Given the description of an element on the screen output the (x, y) to click on. 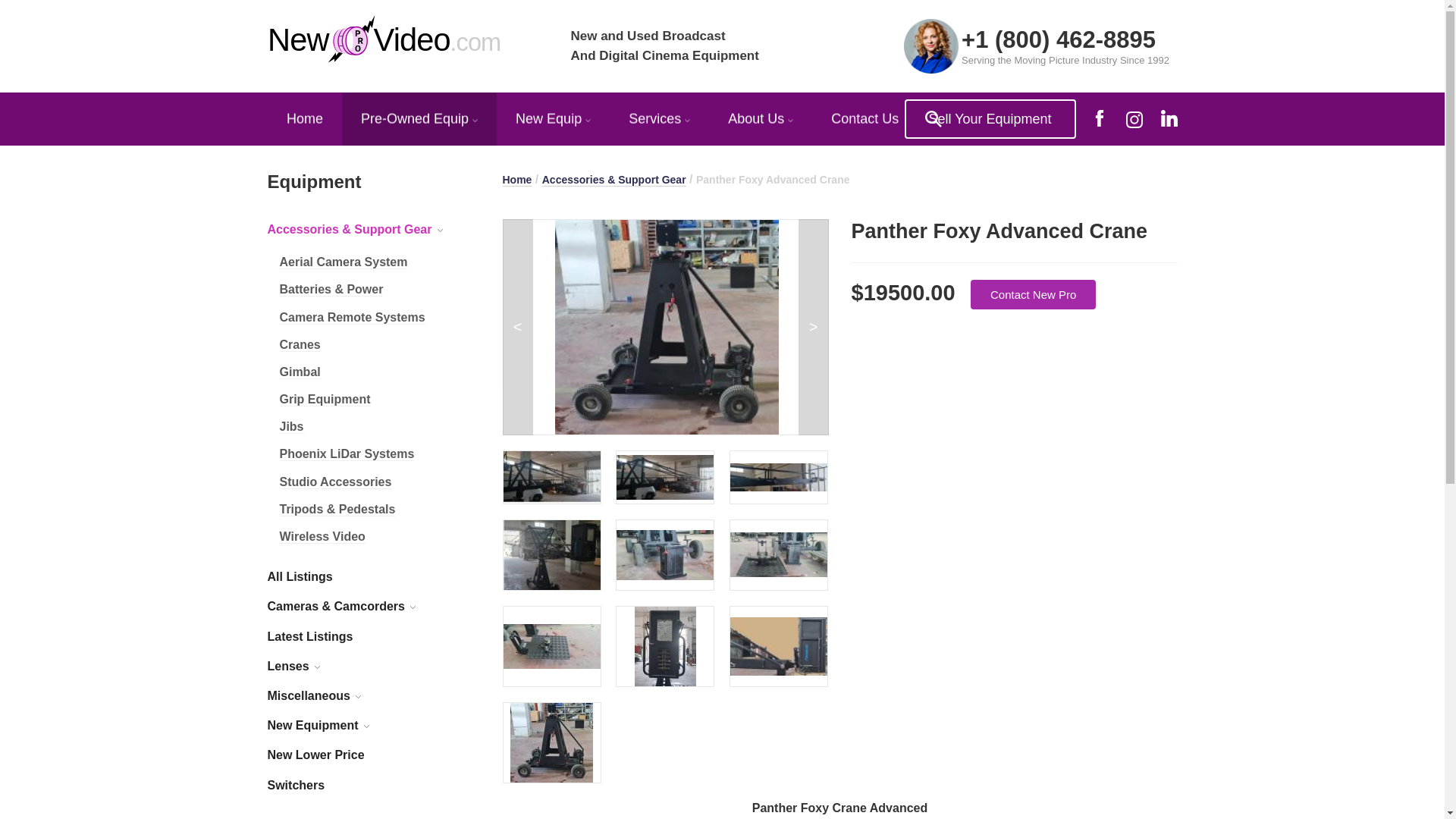
Home (516, 179)
Our Facebook (1098, 117)
Panther Foxy Advanced Crane  (666, 327)
Panther Foxy Advanced Crane  (664, 646)
Our LinkedIn (1168, 117)
New Equip (553, 128)
Panther Foxy Advanced Crane  (551, 555)
Panther Foxy Advanced Crane  (664, 477)
Panther Foxy Advanced Crane  (551, 646)
Contact Us (864, 119)
Panther Foxy Advanced Crane  (667, 327)
Sell Your Equipment (384, 38)
Panther Foxy Advanced Crane  (989, 119)
Panther Foxy Advanced Crane  (778, 554)
